Given the description of an element on the screen output the (x, y) to click on. 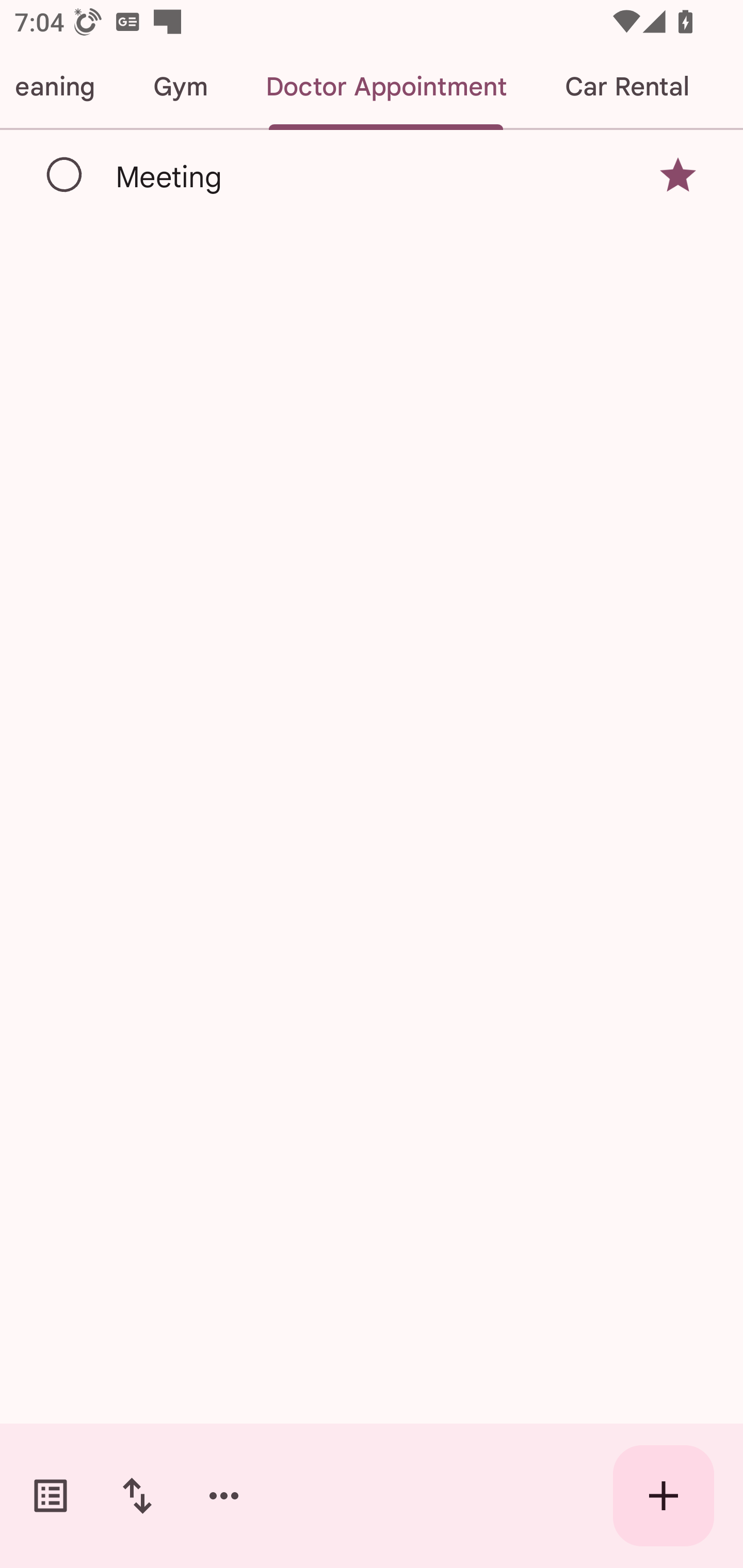
Cleaning (62, 86)
Gym (180, 86)
Car Rental (626, 86)
Remove star (677, 174)
Mark as complete (64, 175)
Switch task lists (50, 1495)
Create new task (663, 1495)
Change sort order (136, 1495)
More options (223, 1495)
